Given the description of an element on the screen output the (x, y) to click on. 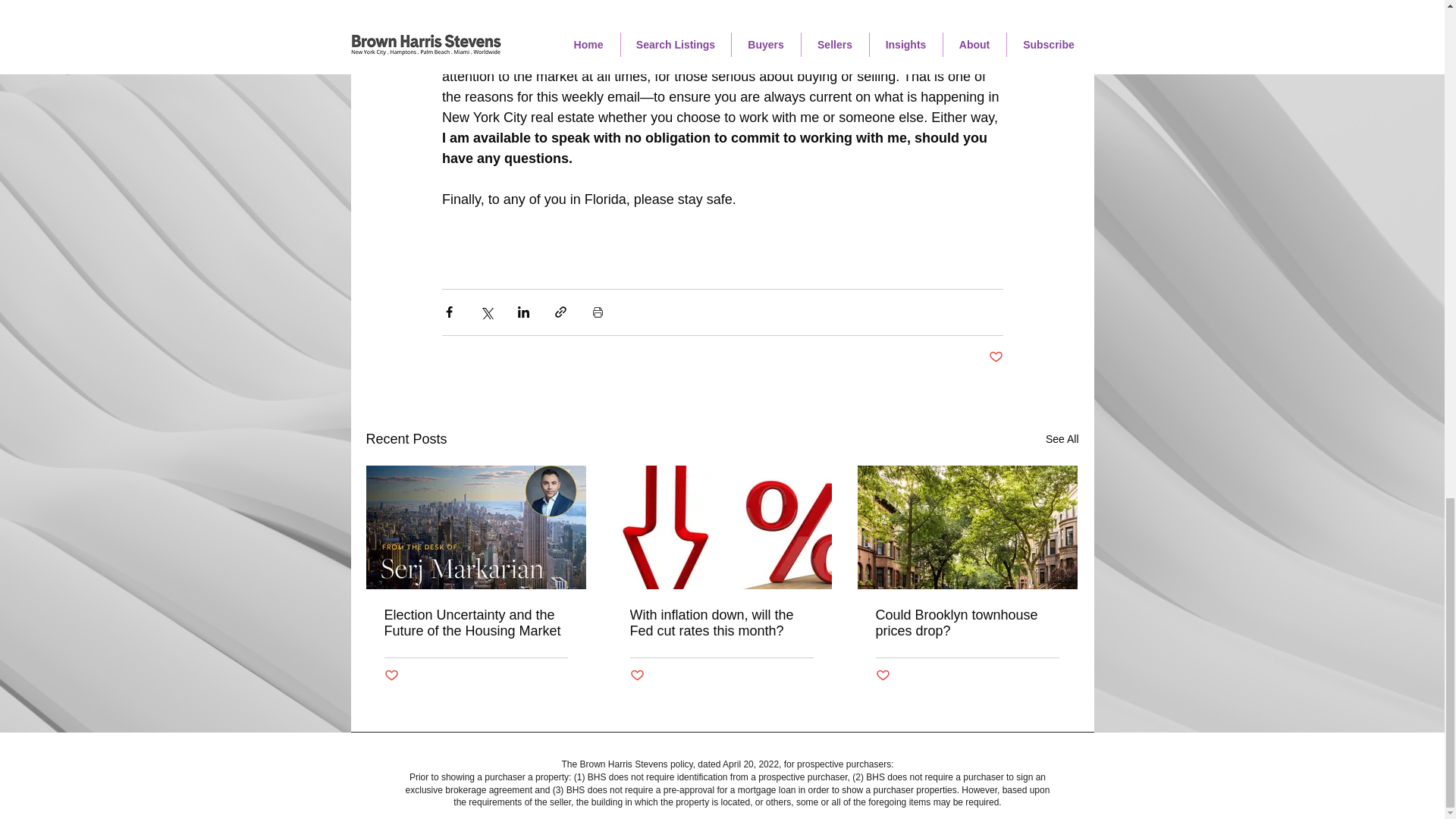
Could Brooklyn townhouse prices drop? (966, 623)
See All (1061, 439)
With inflation down, will the Fed cut rates this month? (720, 623)
Post not marked as liked (390, 675)
Election Uncertainty and the Future of the Housing Market (475, 623)
Post not marked as liked (882, 675)
Post not marked as liked (635, 675)
Post not marked as liked (995, 357)
